Given the description of an element on the screen output the (x, y) to click on. 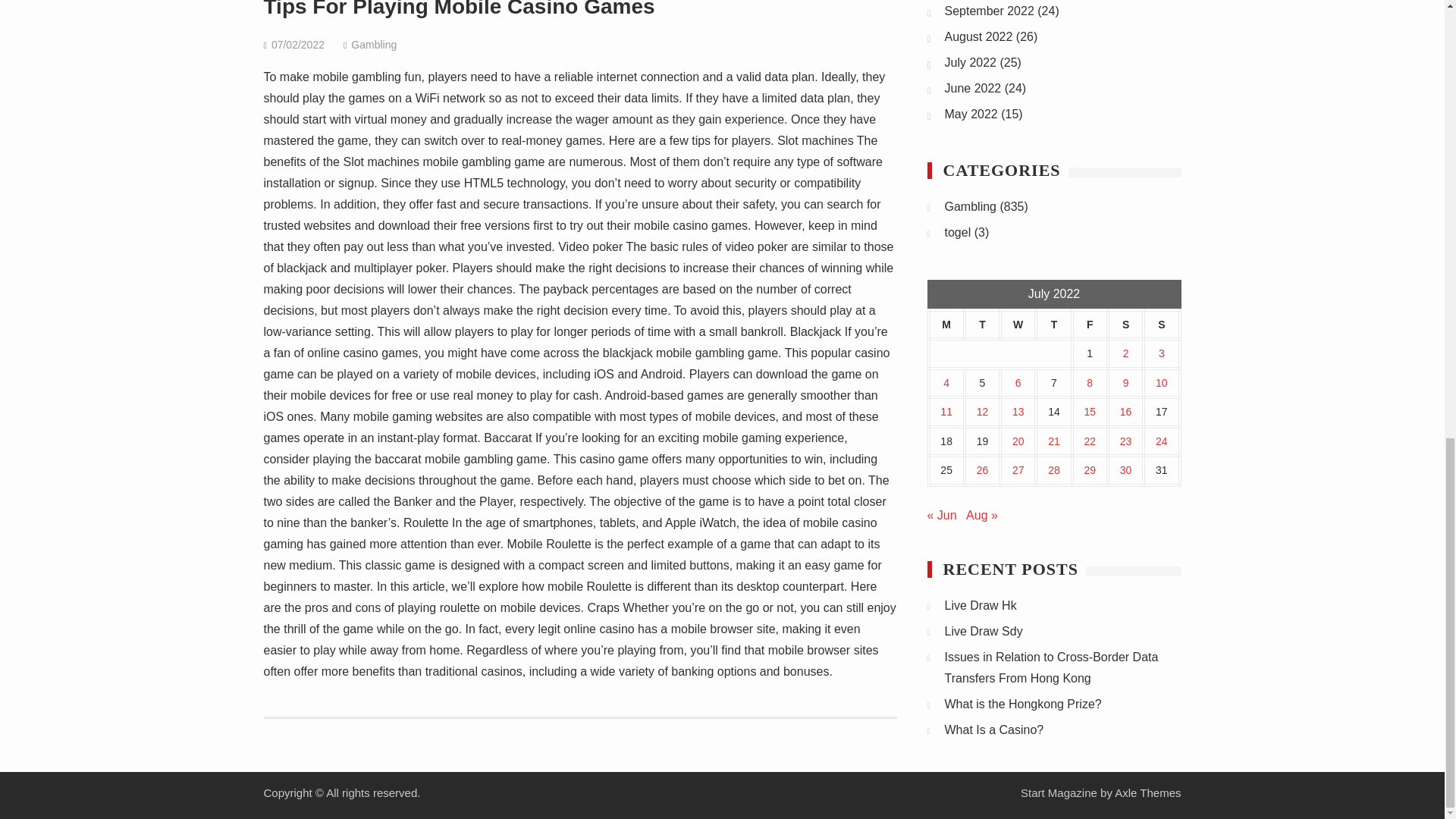
Saturday (1125, 324)
Thursday (1053, 324)
Monday (945, 324)
Wednesday (1017, 324)
Sunday (1160, 324)
Tips For Playing Mobile Casino Games (459, 9)
Tuesday (981, 324)
Friday (1089, 324)
Gambling (373, 44)
